Given the description of an element on the screen output the (x, y) to click on. 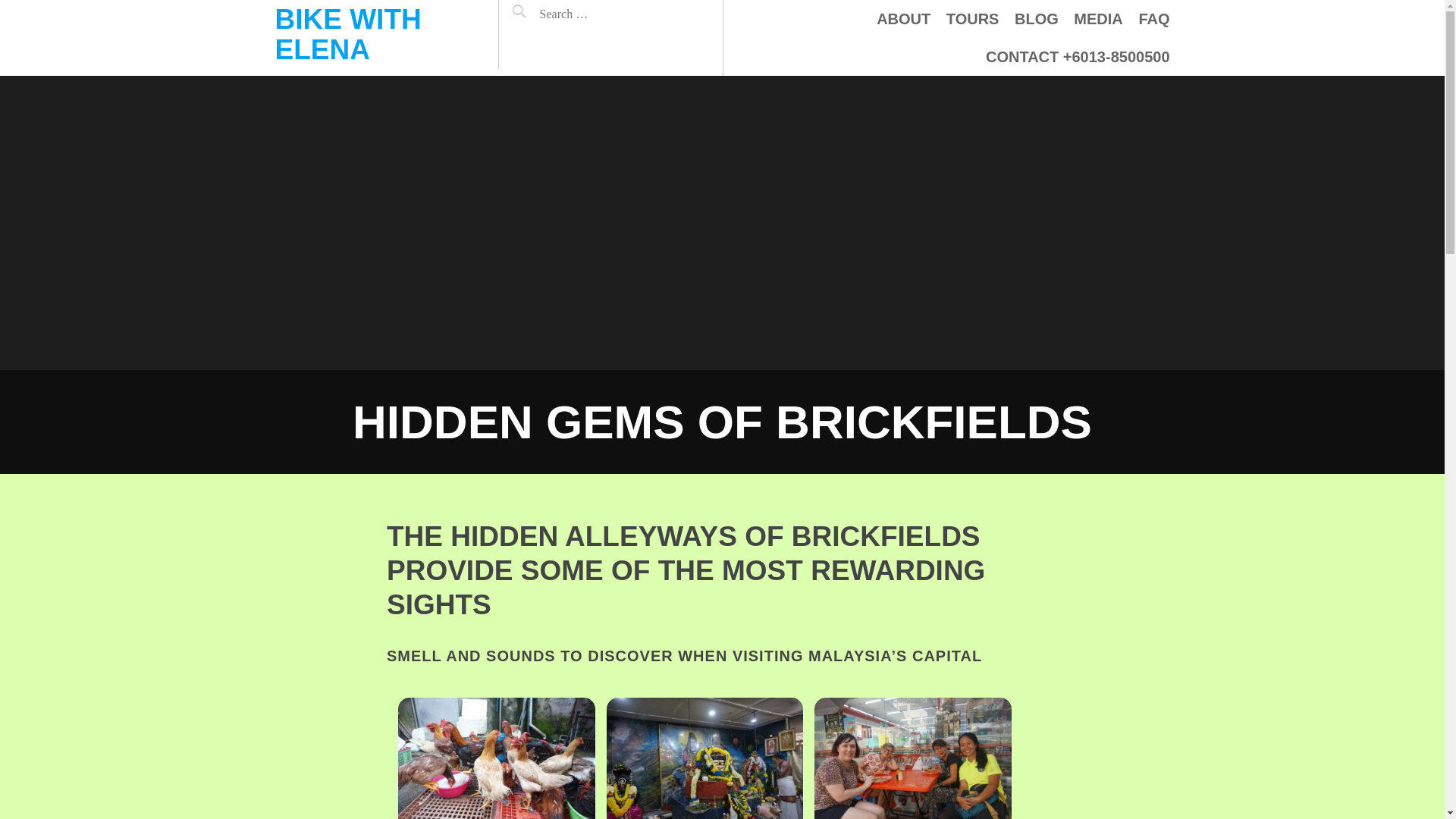
Search (541, 14)
FAQ (1153, 18)
BIKE WITH ELENA (347, 34)
BLOG (1036, 18)
MEDIA (1098, 18)
TOURS (972, 18)
ABOUT (903, 18)
